Given the description of an element on the screen output the (x, y) to click on. 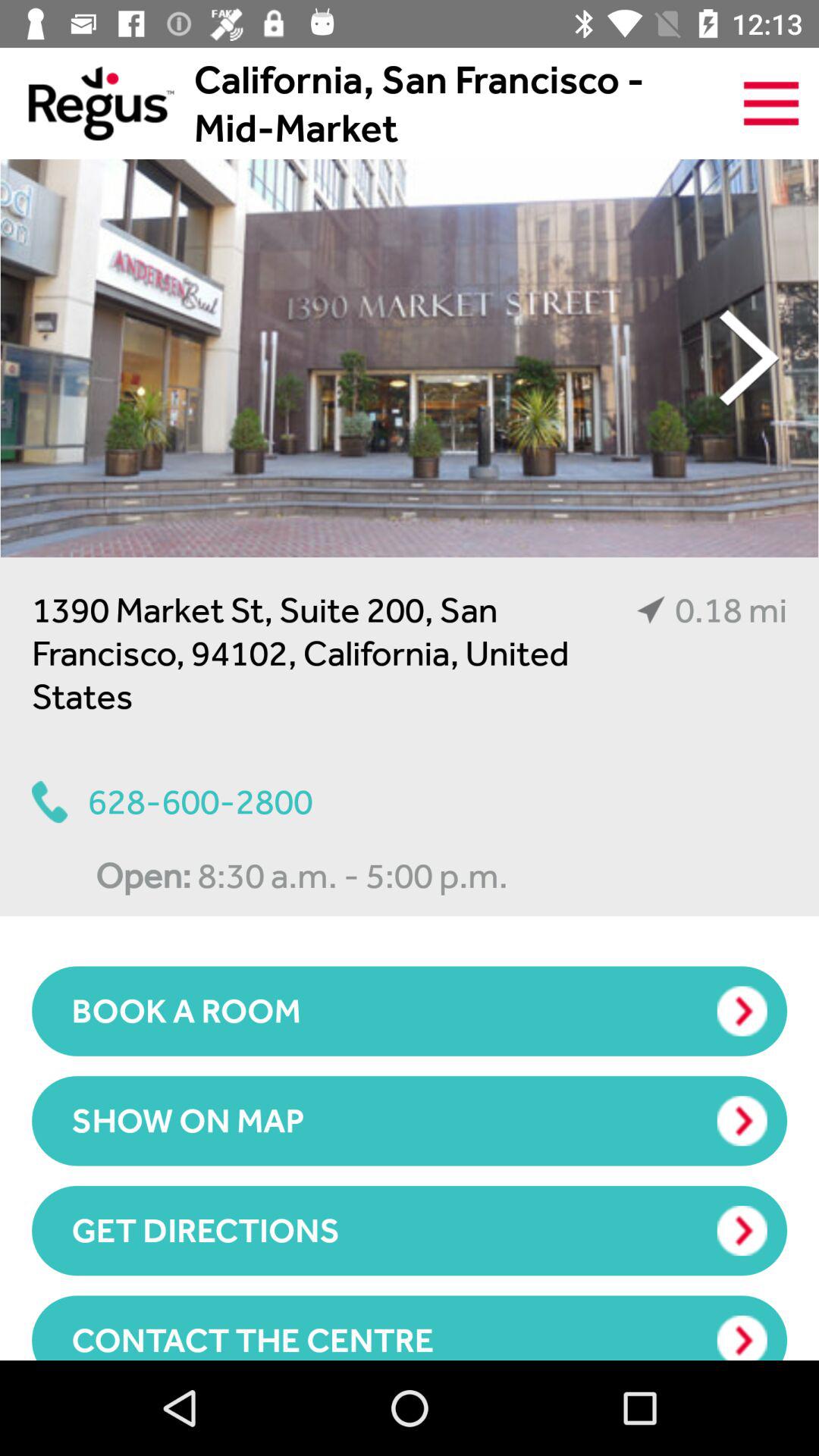
press the icon to the right of the california san francisco item (771, 103)
